Given the description of an element on the screen output the (x, y) to click on. 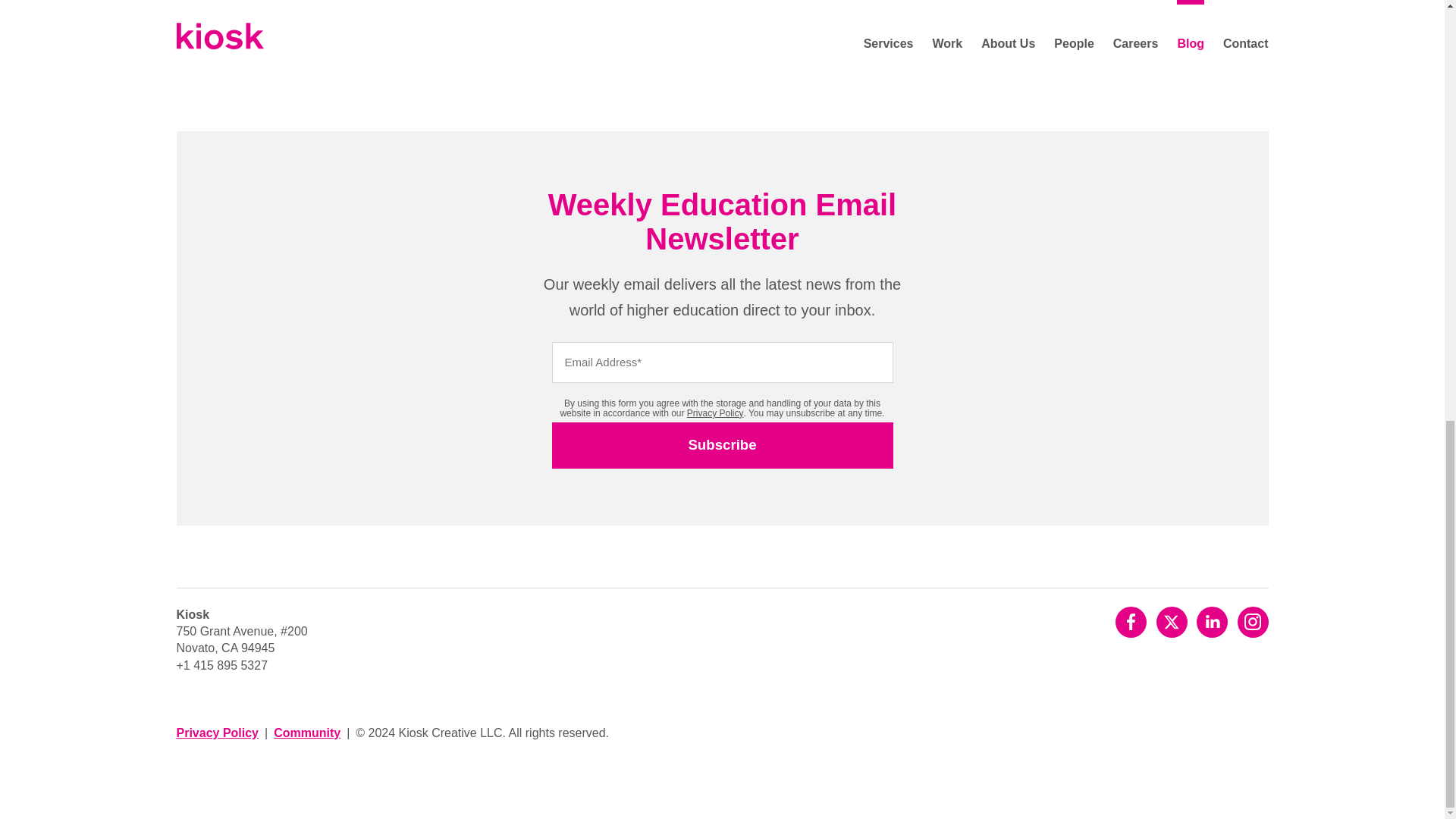
Privacy Policy (715, 412)
Privacy Policy (217, 732)
Subscribe (722, 445)
Subscribe (722, 445)
Community (306, 732)
Back to All Education Posts (443, 10)
